Given the description of an element on the screen output the (x, y) to click on. 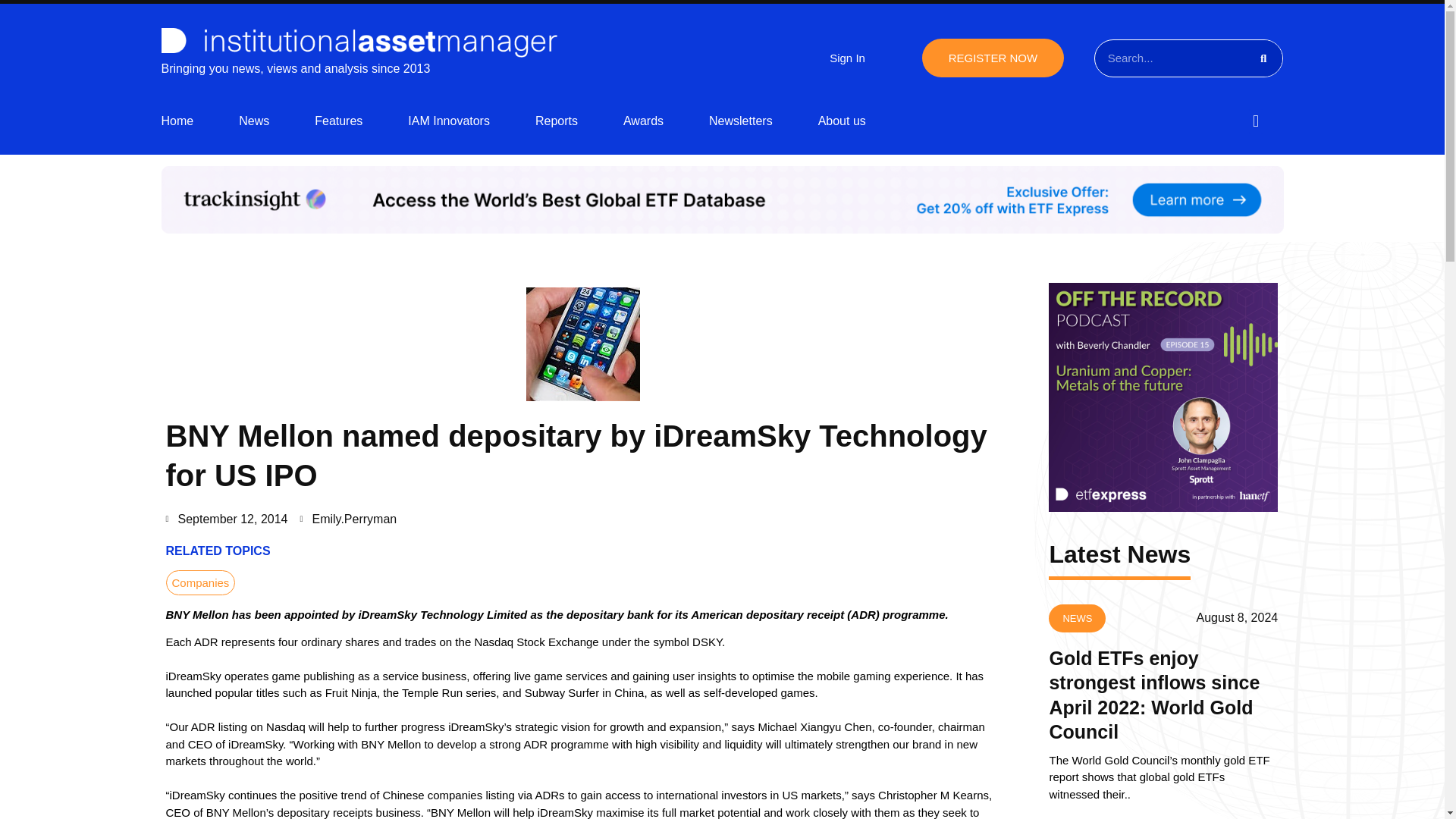
Newsletters (741, 121)
Home (176, 121)
Reports (556, 121)
Sign In (847, 57)
About us (842, 121)
Features (338, 121)
Awards (643, 121)
REGISTER NOW (992, 57)
IAM Innovators (448, 121)
